Given the description of an element on the screen output the (x, y) to click on. 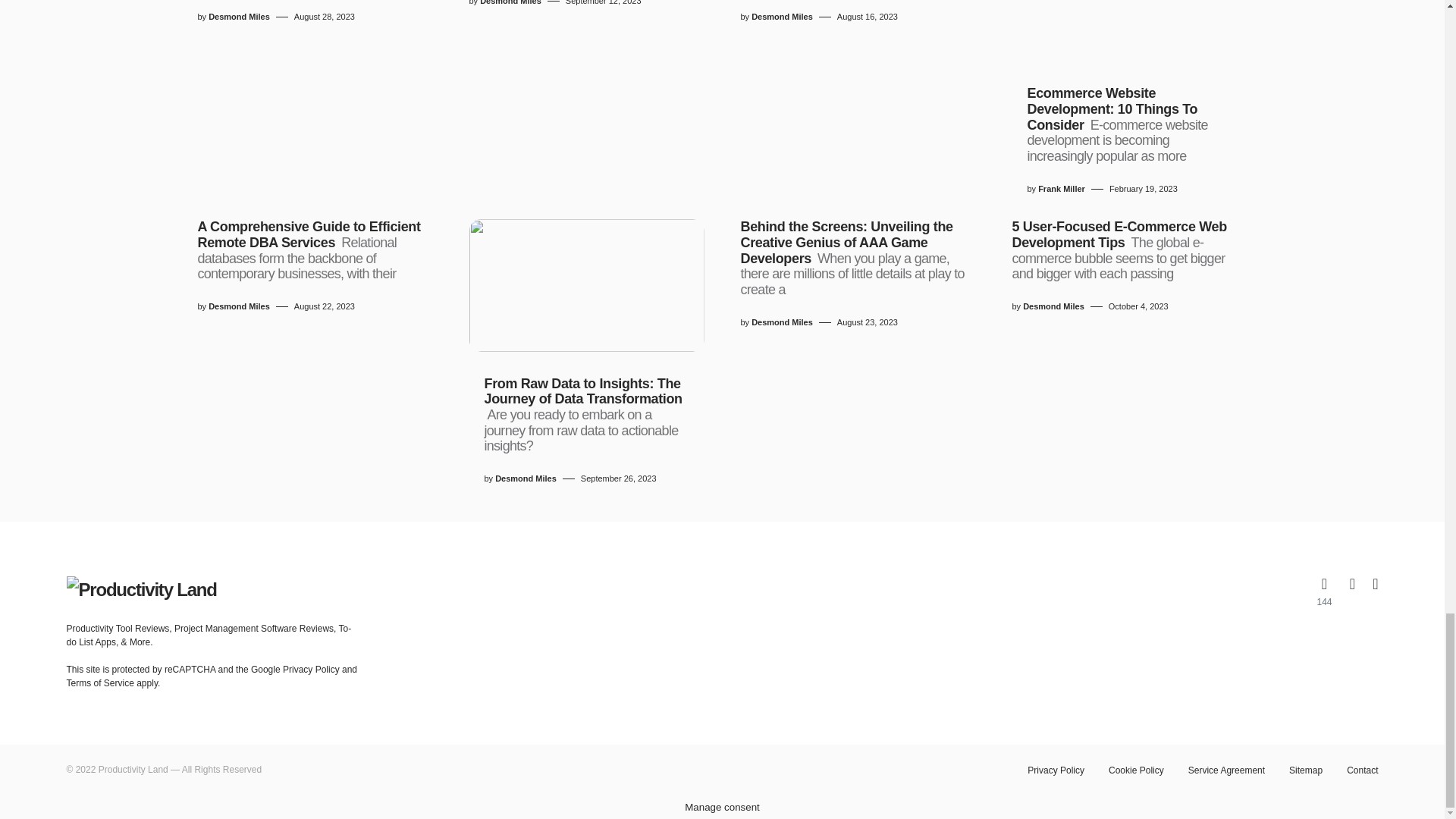
View all posts by Desmond Miles (525, 478)
View all posts by Desmond Miles (781, 322)
View all posts by Desmond Miles (510, 3)
View all posts by Desmond Miles (238, 306)
View all posts by Desmond Miles (1053, 306)
View all posts by Desmond Miles (238, 16)
View all posts by Desmond Miles (781, 16)
View all posts by Frank Miller (1061, 188)
